Given the description of an element on the screen output the (x, y) to click on. 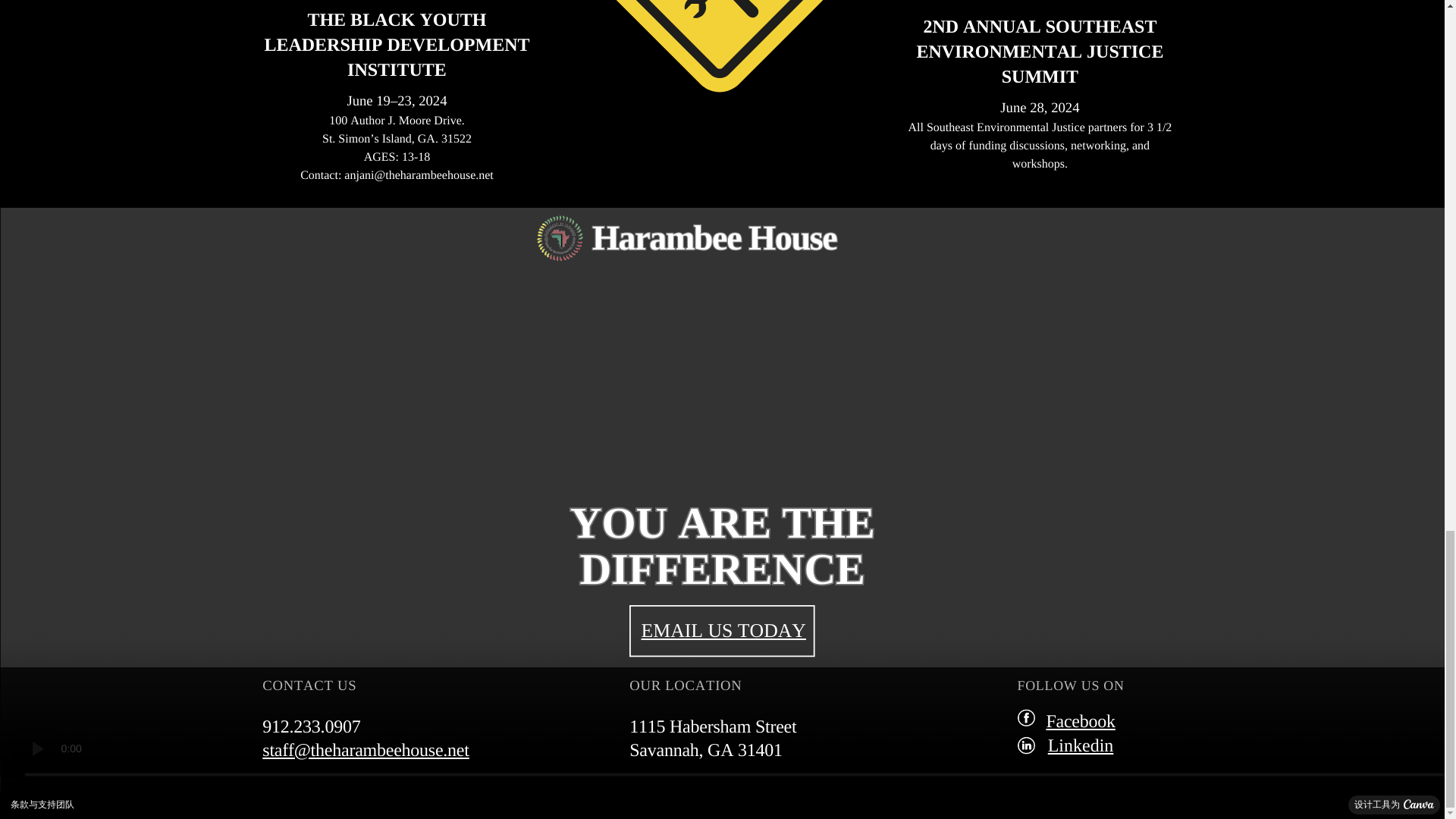
Linkedin (1080, 745)
Facebook (1080, 721)
EMAIL US TODAY (724, 630)
